Given the description of an element on the screen output the (x, y) to click on. 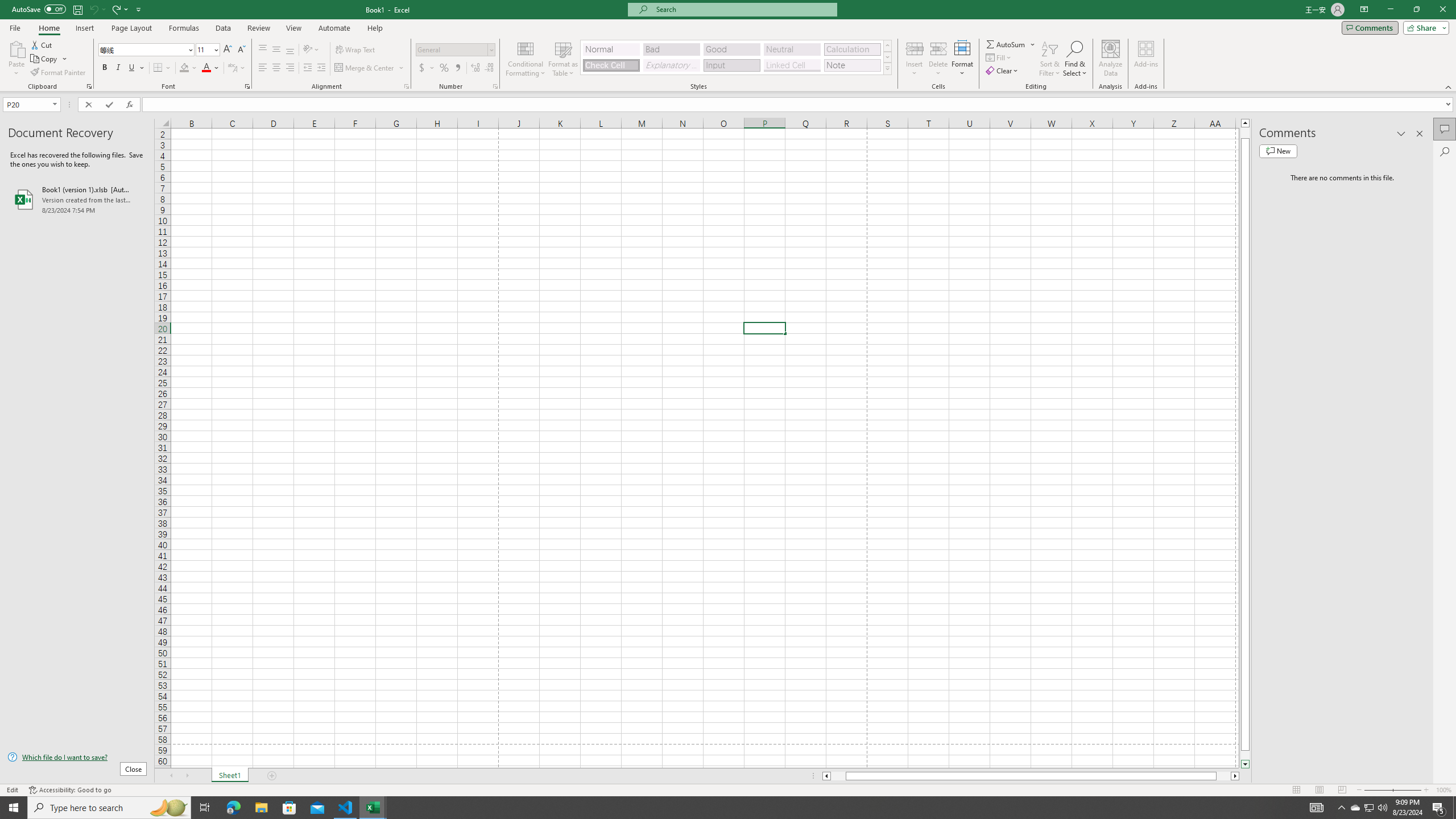
Show Phonetic Field (231, 67)
Paste (16, 58)
Borders (162, 67)
Office Clipboard... (88, 85)
Increase Indent (320, 67)
Format (962, 58)
Insert Cells (914, 48)
Paste (16, 48)
Fill (999, 56)
Format Painter (58, 72)
